Given the description of an element on the screen output the (x, y) to click on. 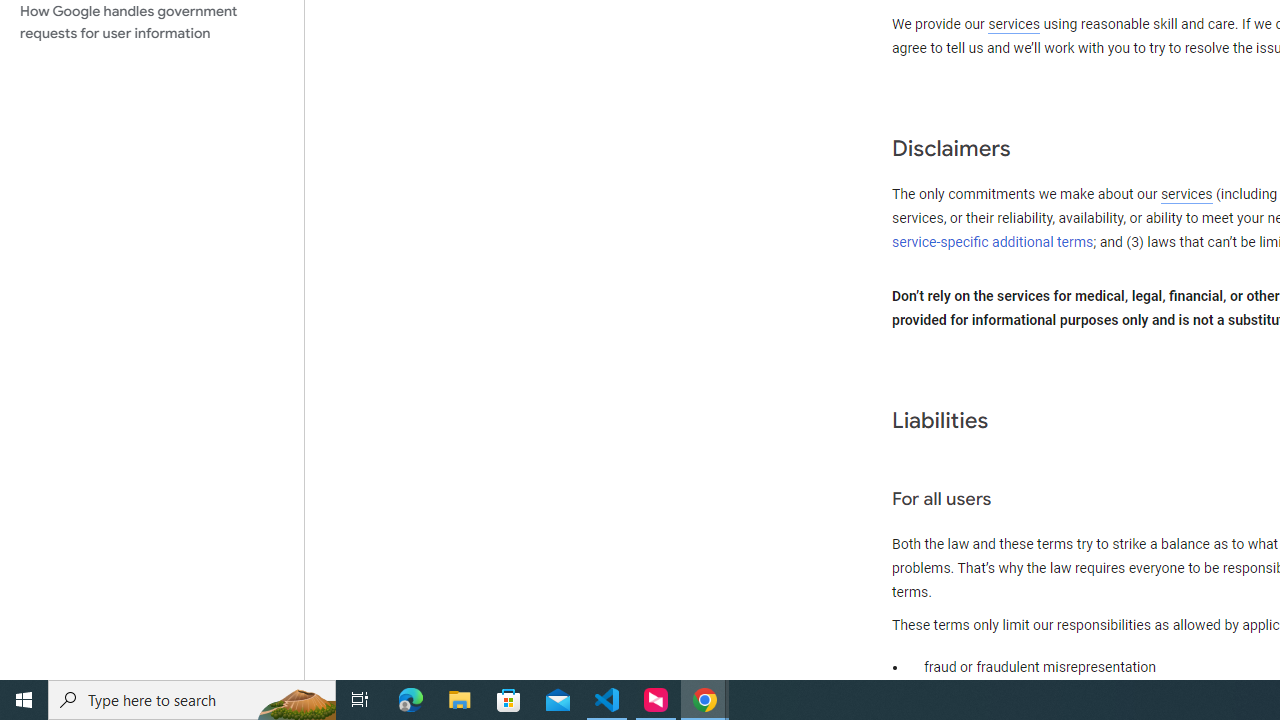
service-specific additional terms (993, 242)
